Given the description of an element on the screen output the (x, y) to click on. 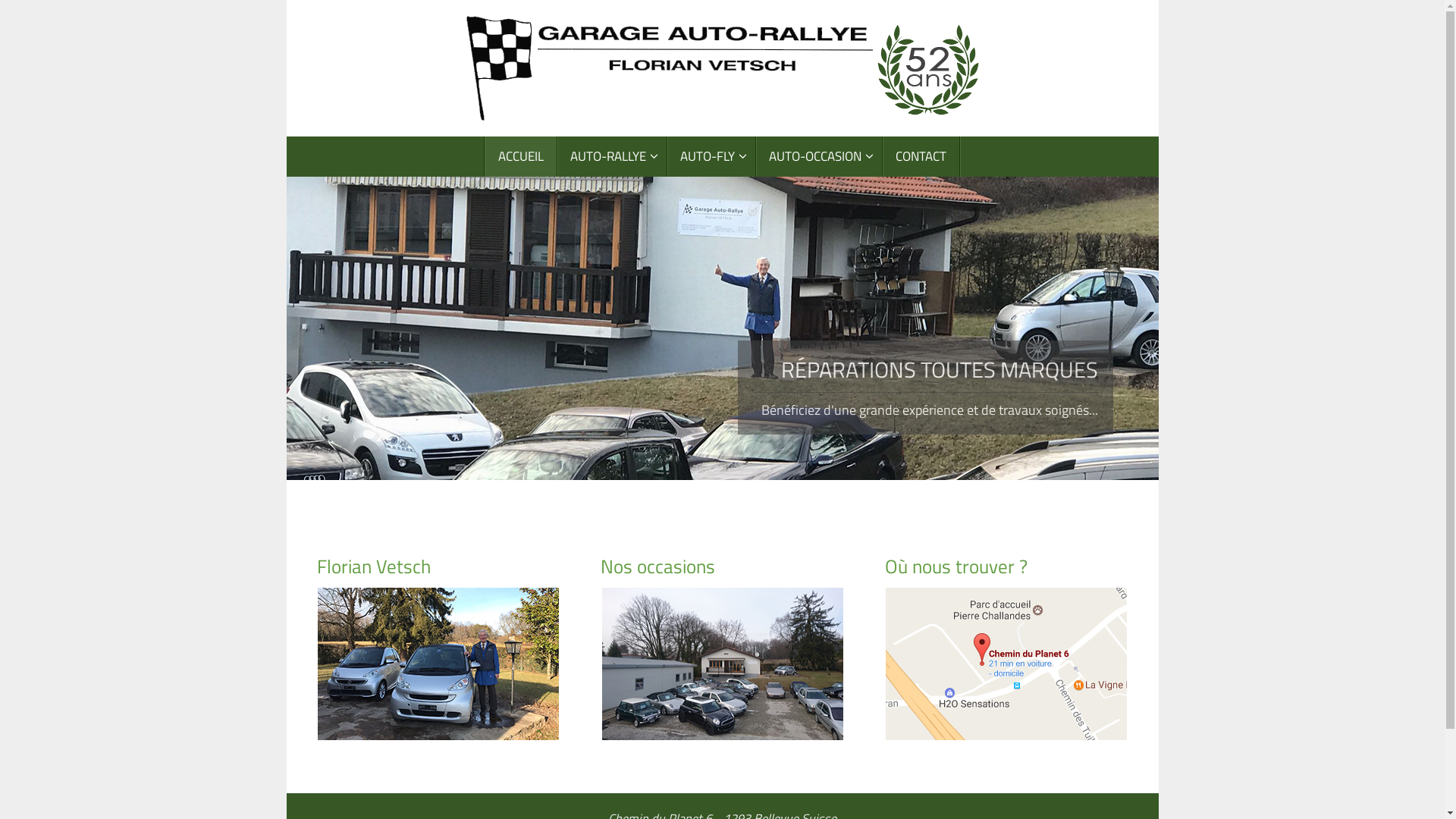
Nos occasions Element type: text (722, 566)
AUTO-RALLYE Element type: text (612, 156)
PASSER AU CONTENU Element type: text (285, 159)
AUTO-FLY Element type: text (711, 156)
Florian Vetsch Element type: text (438, 566)
CONTACT Element type: text (921, 156)
ACCUEIL Element type: text (521, 156)
AUTO-OCCASION Element type: text (819, 156)
Auto-Rallye Element type: hover (722, 68)
